Given the description of an element on the screen output the (x, y) to click on. 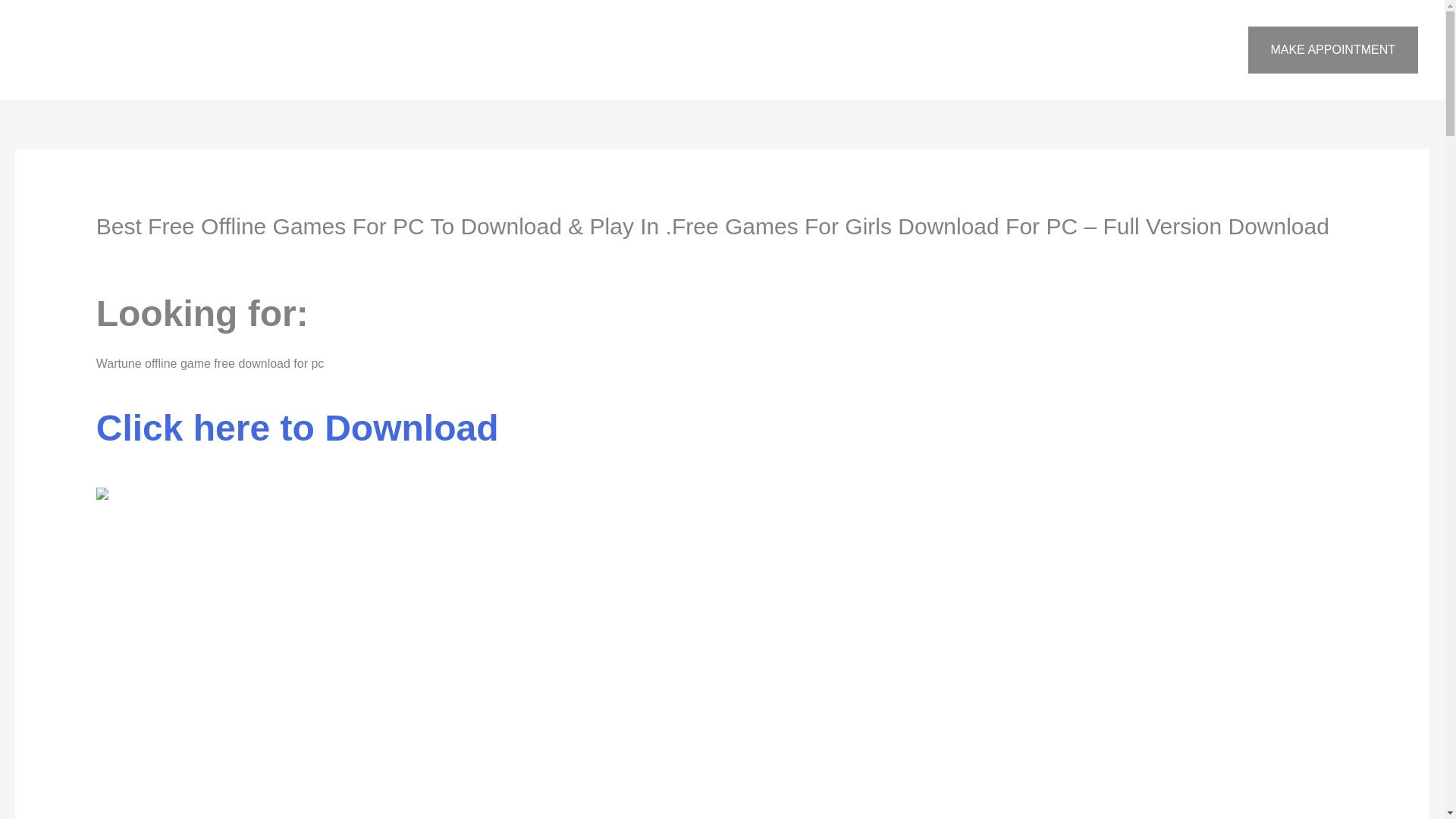
HOME (862, 49)
ABOUT US (936, 49)
Click here to Download (297, 436)
admin (272, 256)
mcc (216, 256)
CONTACT US (1115, 49)
SERVICES (1021, 49)
BLOGS (1198, 49)
Leave a Comment (145, 256)
MAKE APPOINTMENT (1332, 49)
View all posts by admin (272, 256)
